Given the description of an element on the screen output the (x, y) to click on. 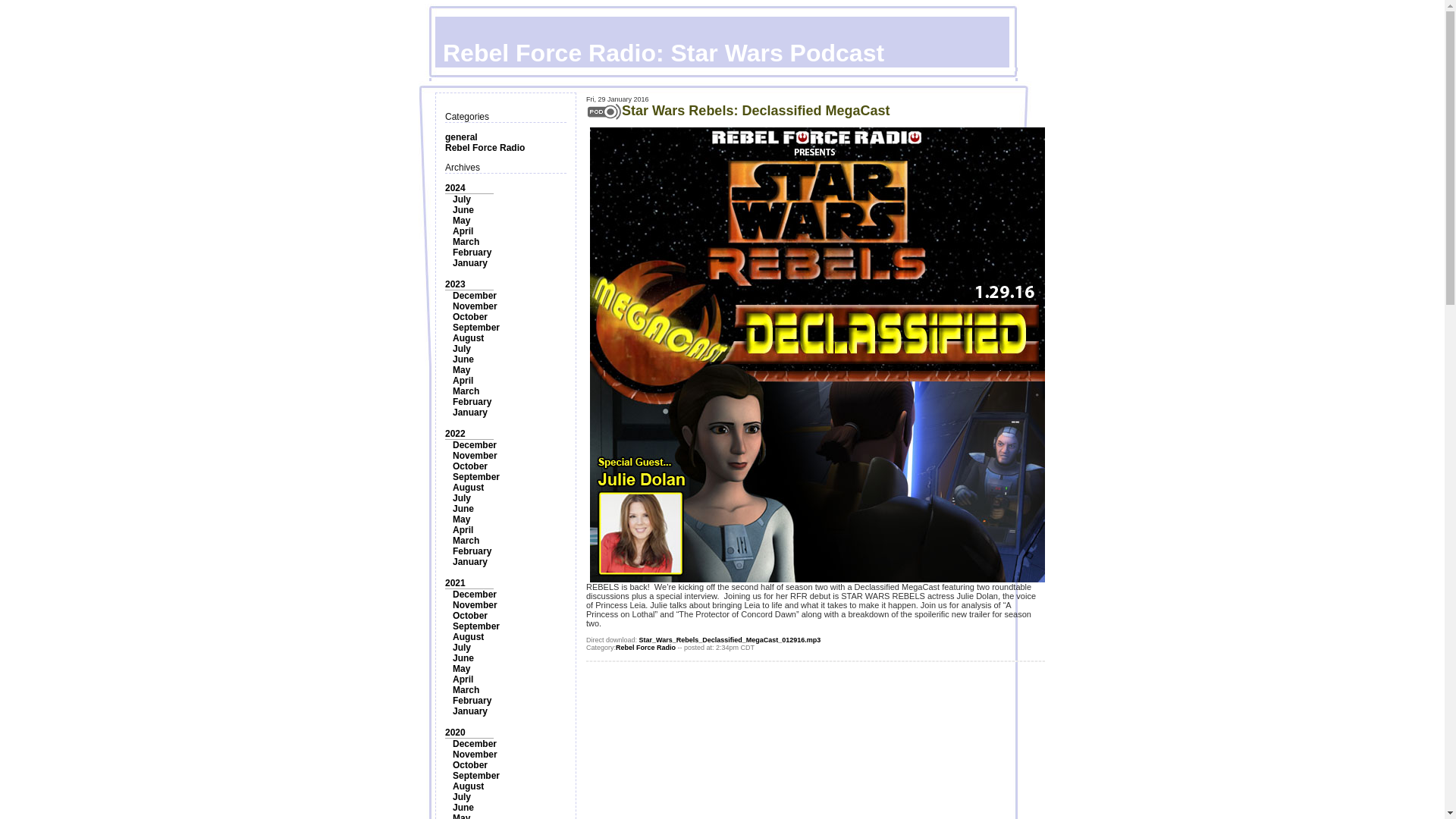
2023 (455, 284)
March (465, 540)
June (463, 358)
November (474, 306)
June (463, 209)
April (462, 231)
May (461, 369)
general (461, 136)
February (472, 401)
August (467, 337)
August (467, 487)
April (462, 529)
October (469, 615)
December (474, 593)
